Given the description of an element on the screen output the (x, y) to click on. 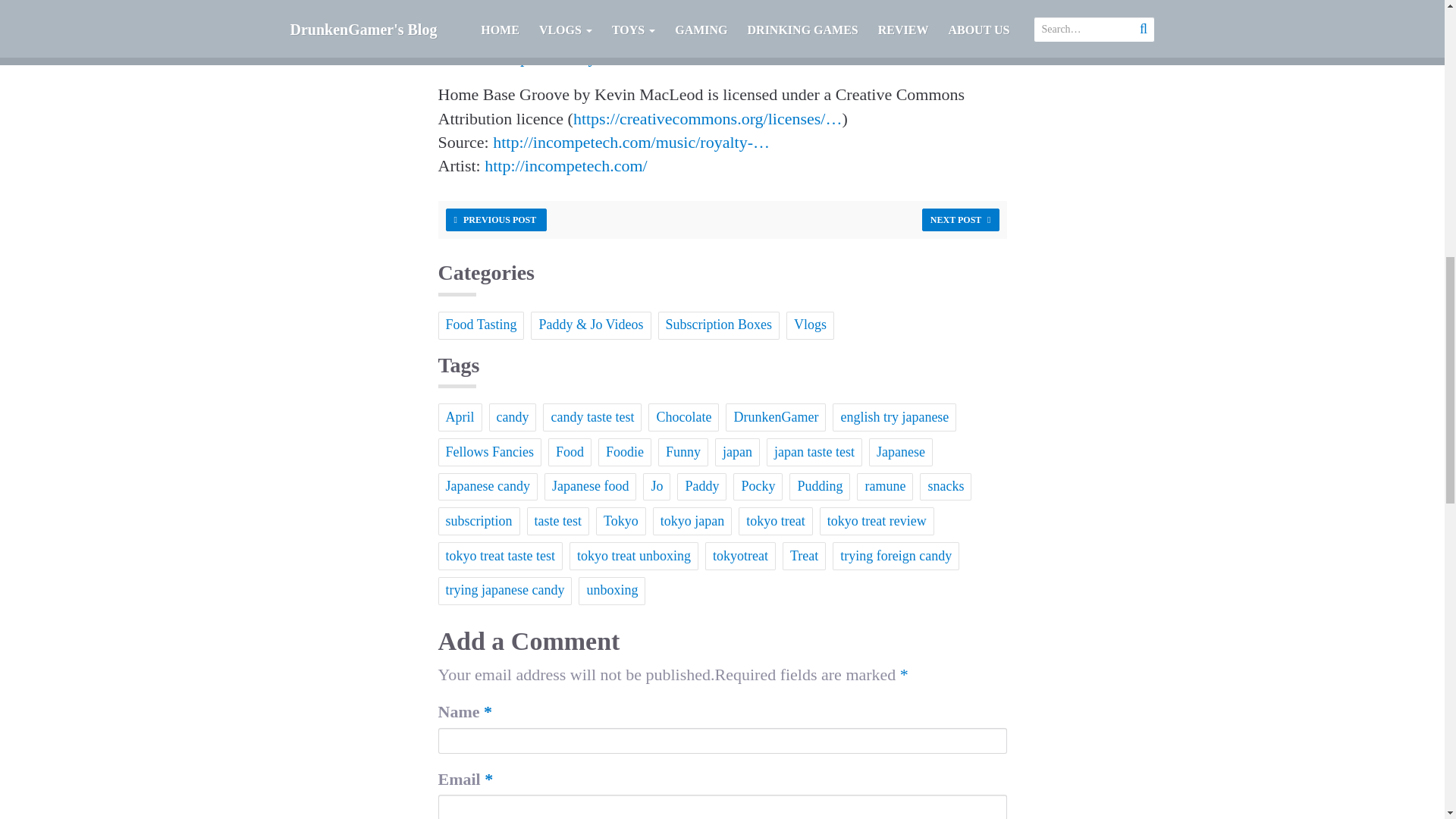
April (459, 417)
PREVIOUS POST (496, 219)
candy (511, 417)
Vlogs (810, 325)
Food Tasting (481, 325)
candy taste test (592, 417)
NEXT POST (959, 219)
Subscription Boxes (719, 325)
